Given the description of an element on the screen output the (x, y) to click on. 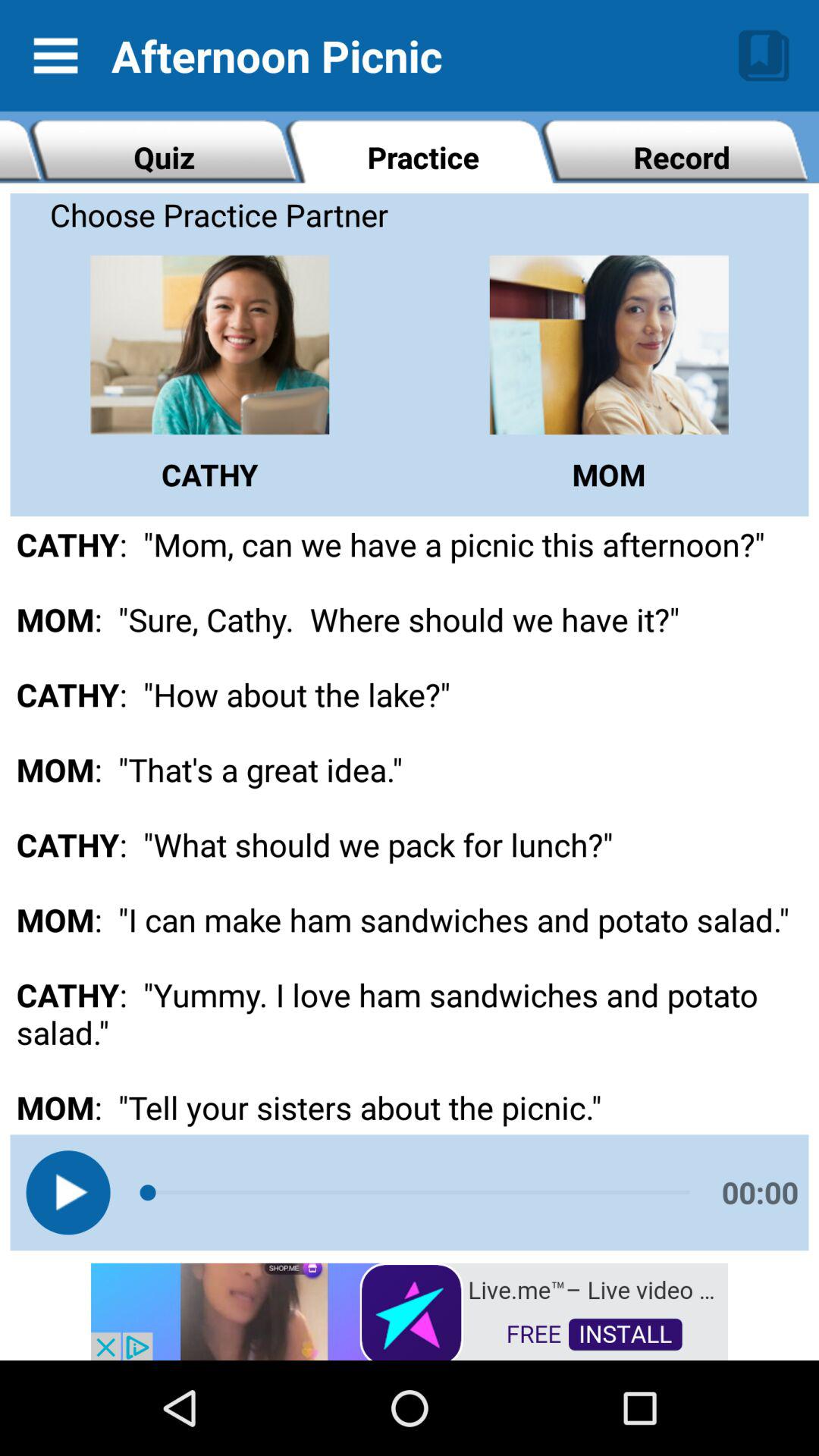
listen to the audio (68, 1192)
